Given the description of an element on the screen output the (x, y) to click on. 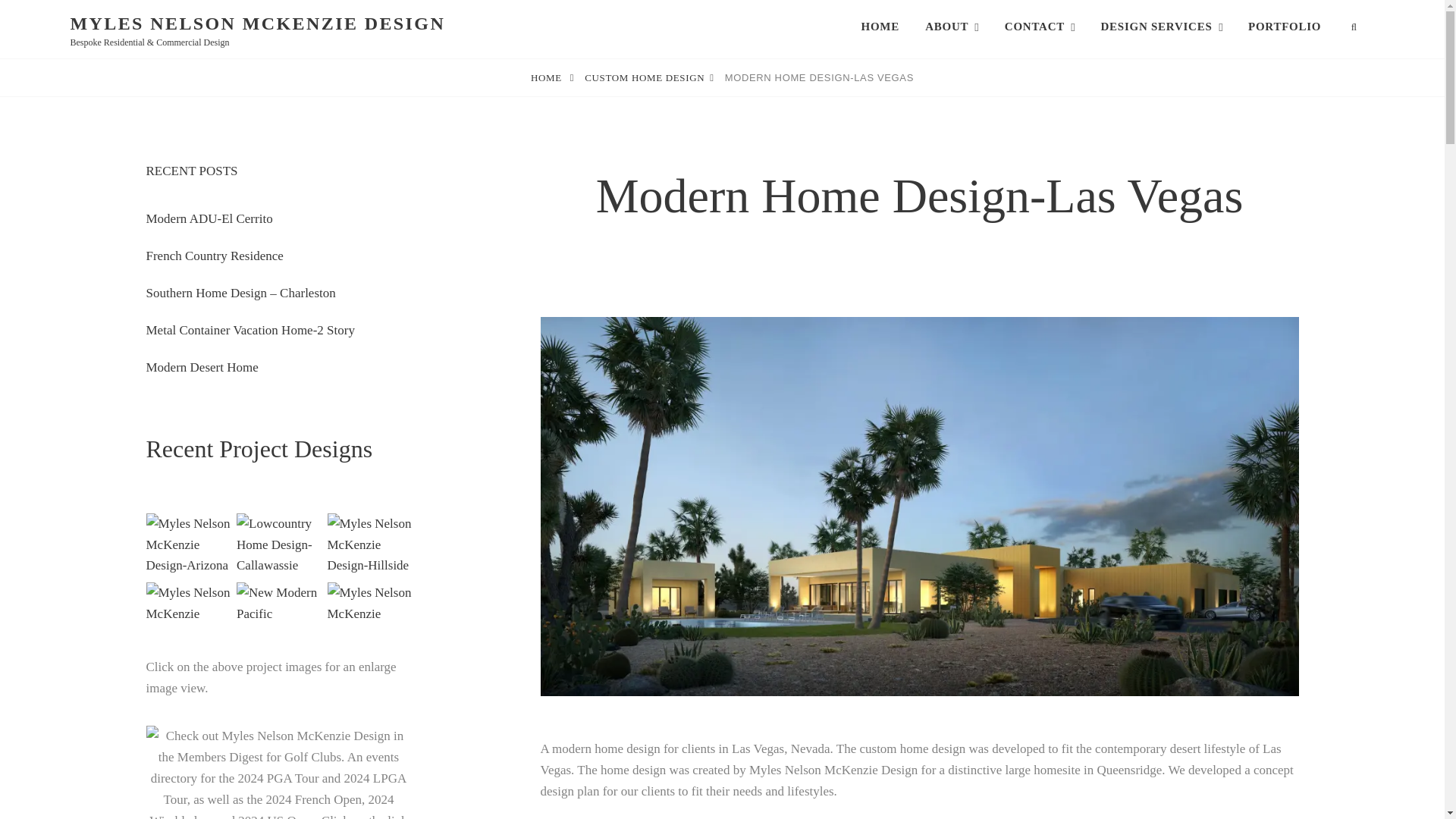
PORTFOLIO (1284, 25)
MYLES NELSON MCKENZIE DESIGN (257, 23)
HOME (552, 77)
ABOUT (952, 25)
DESIGN SERVICES (1161, 25)
SEARCH (1355, 26)
HOME (880, 25)
CONTACT (1039, 25)
CUSTOM HOME DESIGN (649, 77)
